Given the description of an element on the screen output the (x, y) to click on. 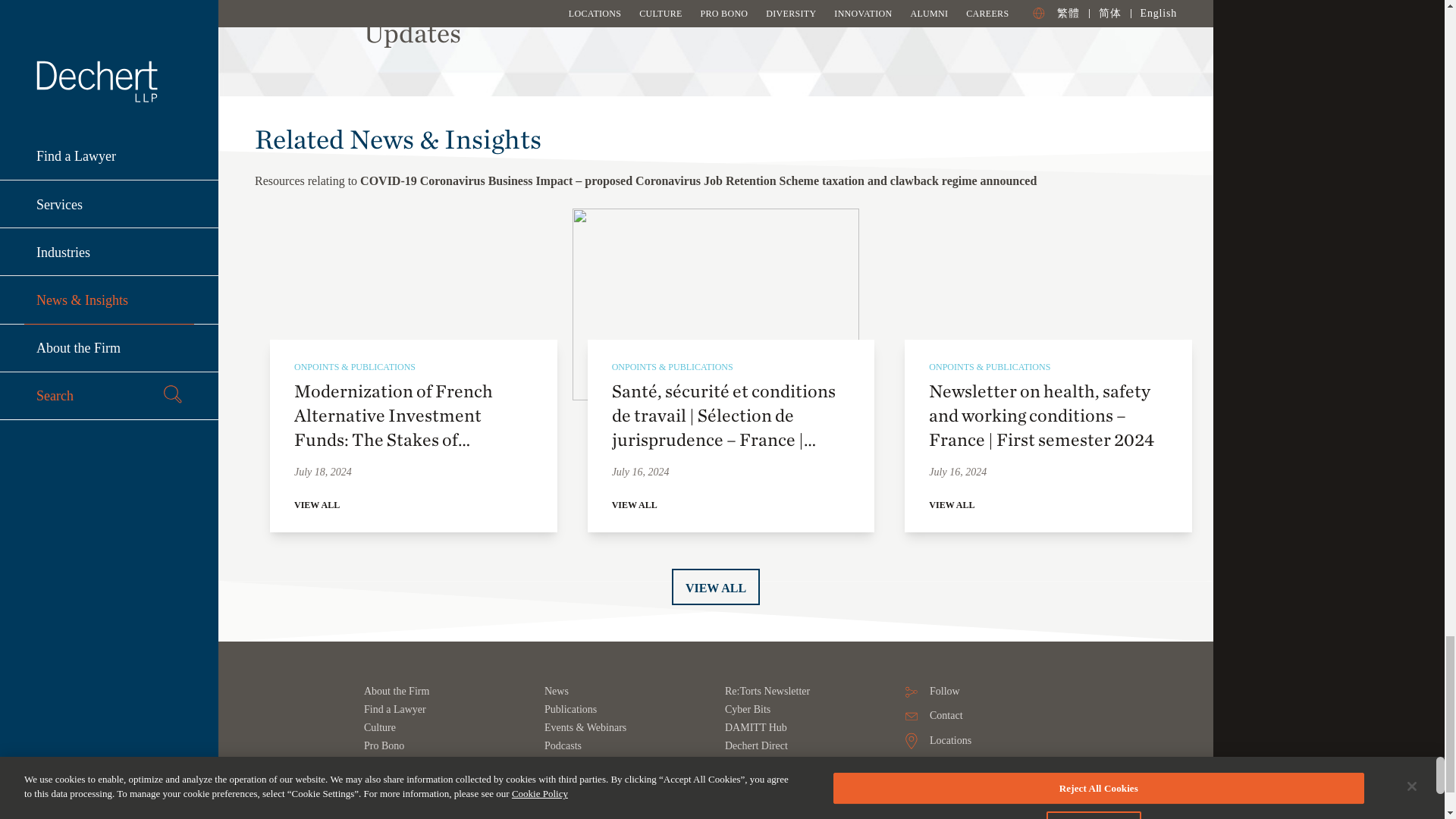
Simplified Chinese (980, 789)
Traditional Chinese (940, 789)
